Given the description of an element on the screen output the (x, y) to click on. 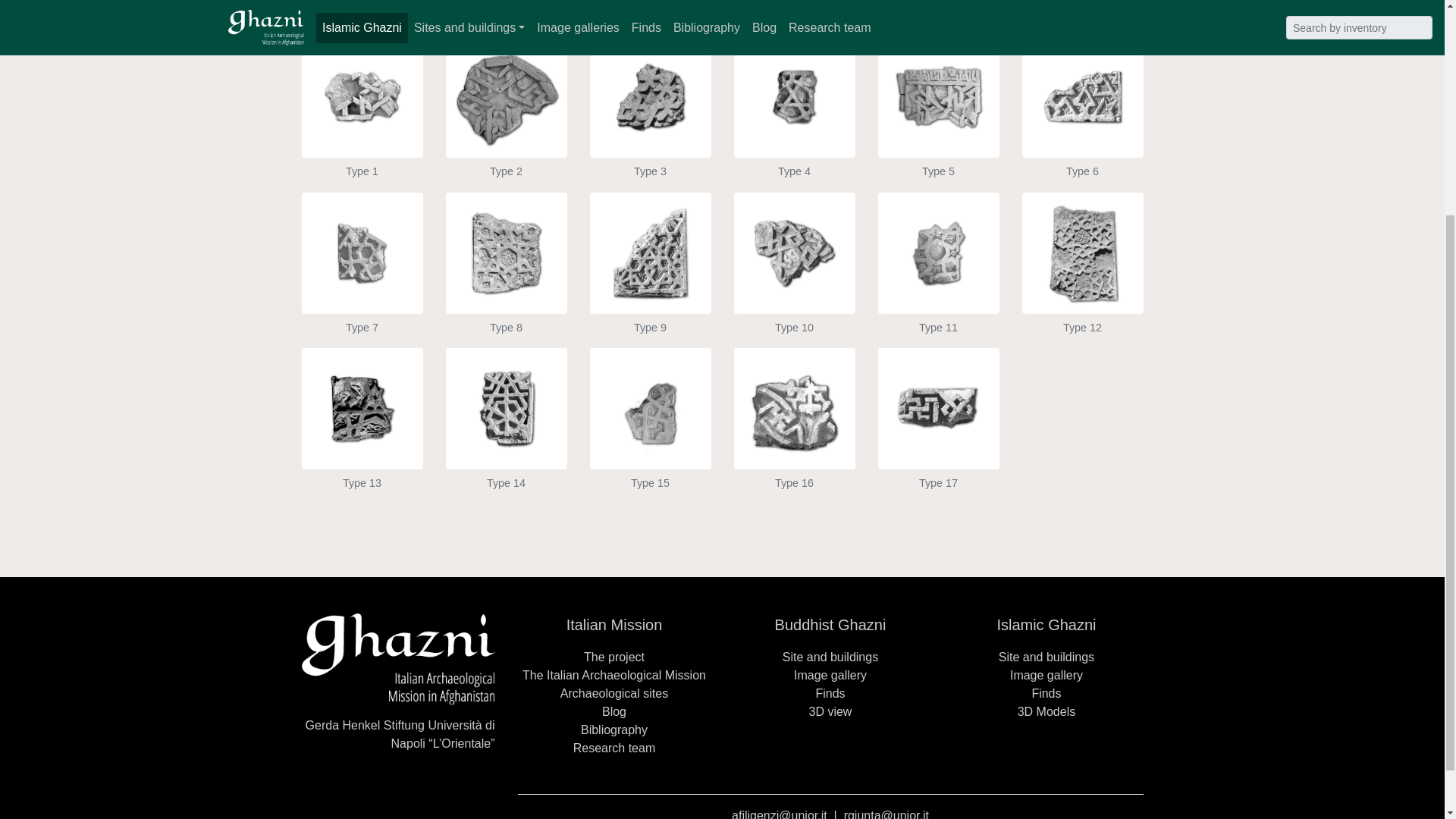
Type 16 (794, 447)
Type 8 (506, 291)
Type 9 (650, 291)
Type 5 (937, 135)
Research team (614, 748)
Type 15 (650, 447)
Site and buildings (830, 656)
Type 5 (937, 135)
Type 9 (650, 291)
Type 6 (1082, 135)
Type 14 (506, 447)
Type 4 (794, 135)
Type 10 (794, 291)
Archaeological sites (614, 693)
Type 3 (650, 135)
